Given the description of an element on the screen output the (x, y) to click on. 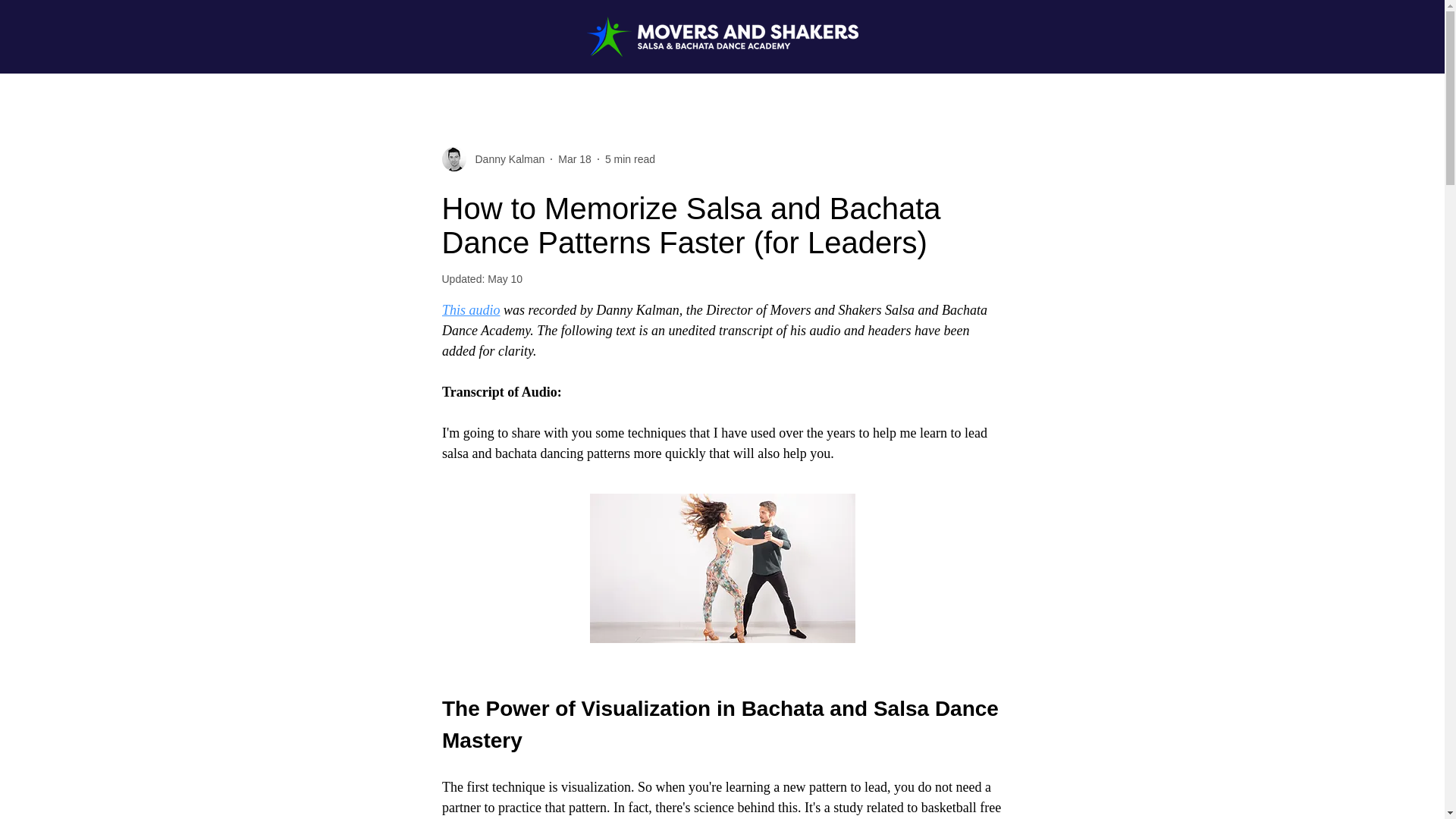
Danny Kalman (492, 159)
5 min read (630, 159)
Mar 18 (574, 159)
May 10 (504, 278)
Danny Kalman (504, 159)
This audio (470, 309)
